Given the description of an element on the screen output the (x, y) to click on. 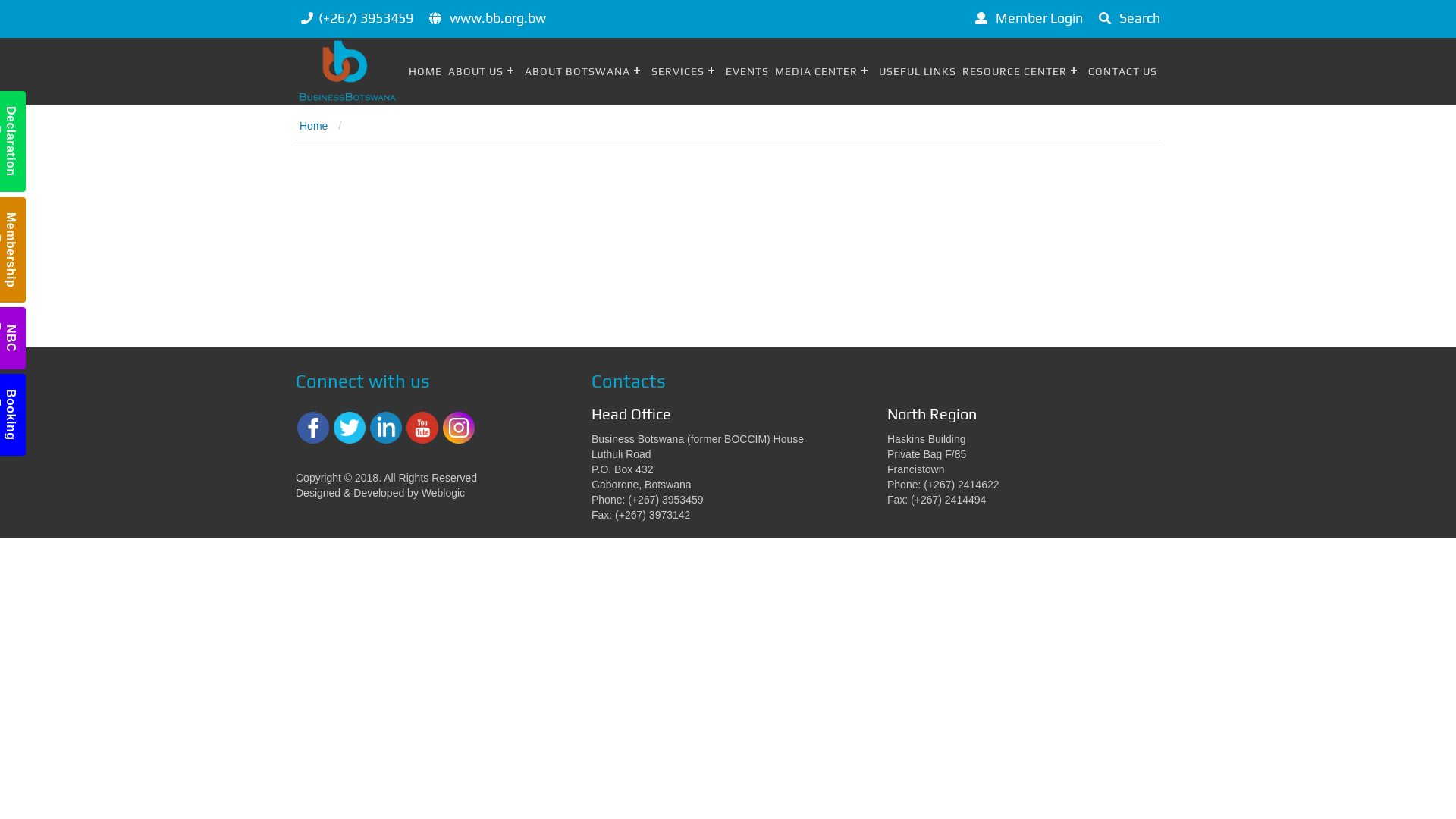
USEFUL LINKS Element type: text (917, 71)
Home Element type: text (313, 125)
Designed & Developed by Weblogic Element type: text (379, 492)
HOME Element type: text (425, 71)
MEDIA CENTER Element type: text (823, 71)
Member Login Element type: text (1025, 17)
www.bb.org.bw Element type: text (497, 17)
SERVICES Element type: text (685, 71)
ABOUT BOTSWANA Element type: text (584, 71)
ABOUT US Element type: text (483, 71)
Search Element type: text (1126, 17)
CONTACT US Element type: text (1122, 71)
EVENTS Element type: text (746, 71)
RESOURCE CENTER Element type: text (1022, 71)
